Given the description of an element on the screen output the (x, y) to click on. 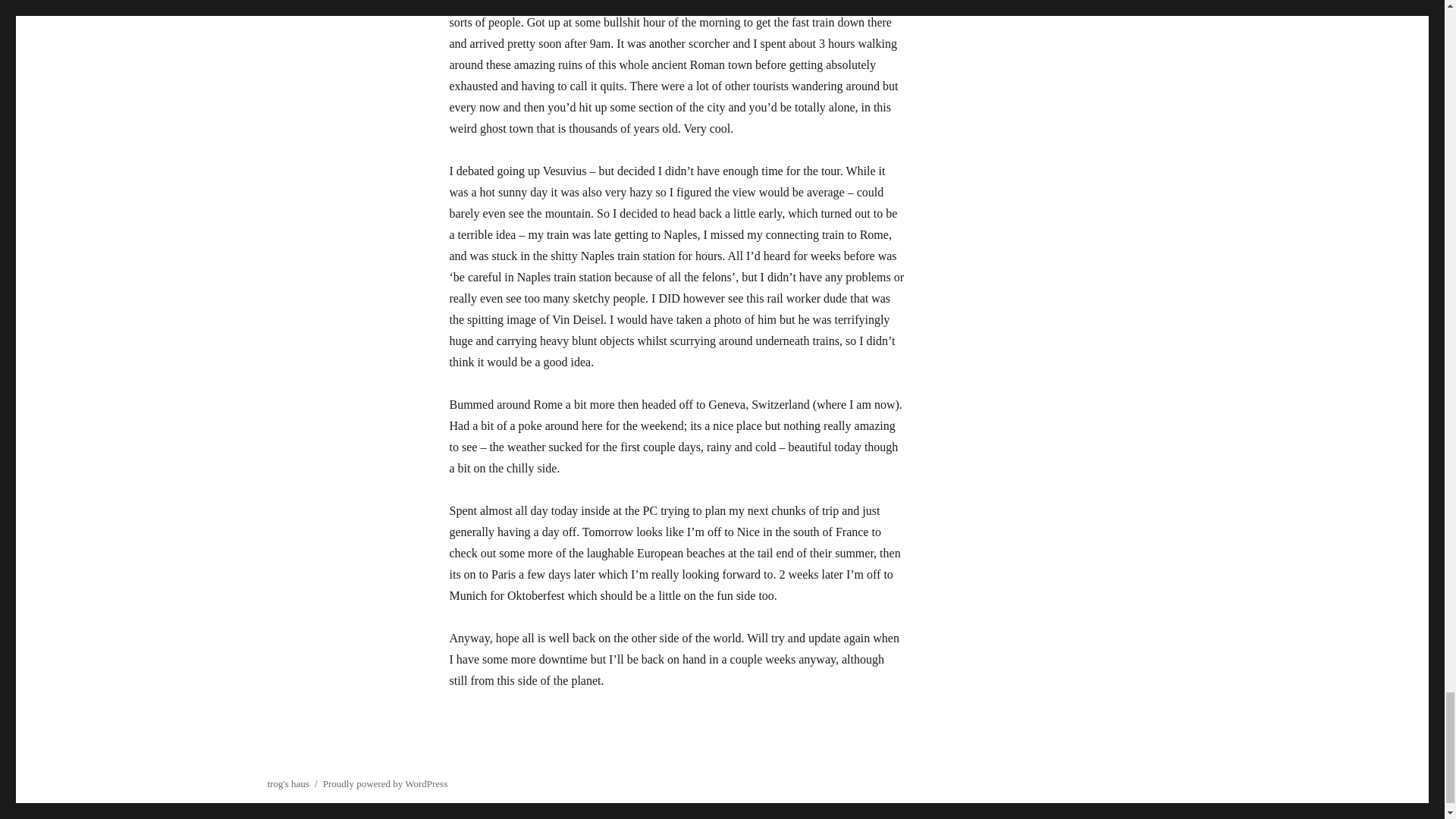
Proudly powered by WordPress (384, 783)
trog's haus (287, 783)
